Given the description of an element on the screen output the (x, y) to click on. 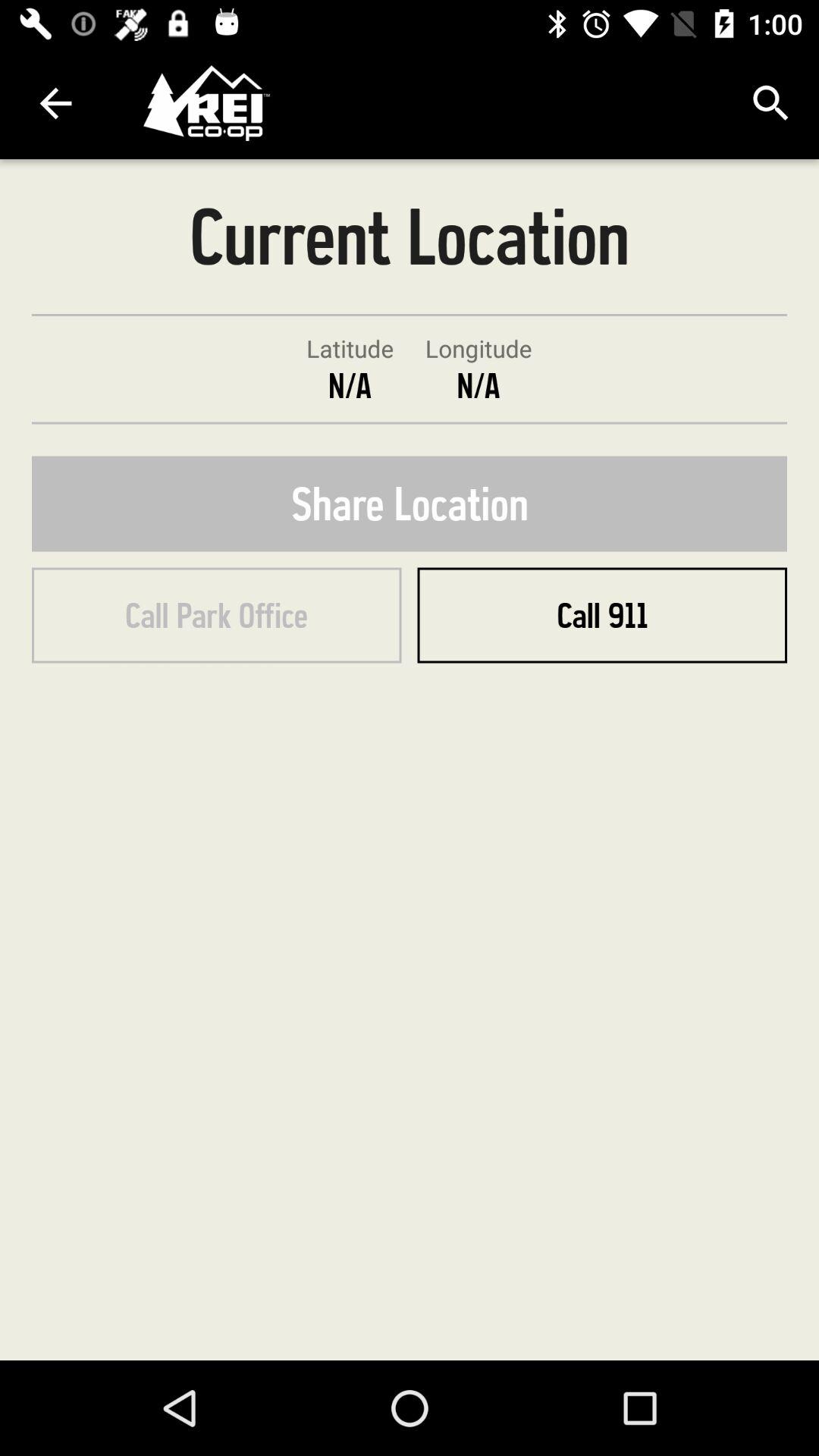
jump until the call park office (216, 615)
